Given the description of an element on the screen output the (x, y) to click on. 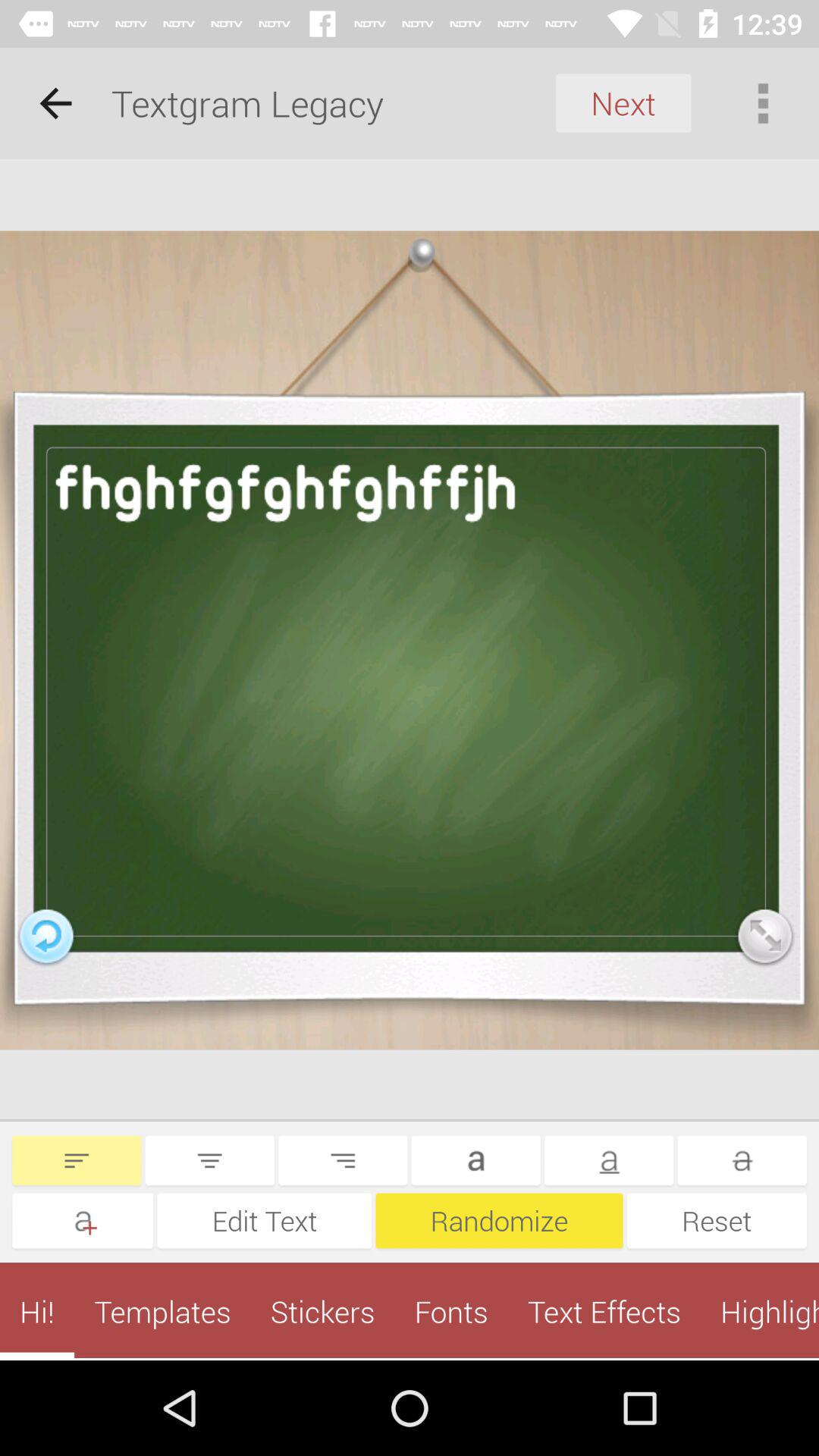
turn on templates item (162, 1311)
